Given the description of an element on the screen output the (x, y) to click on. 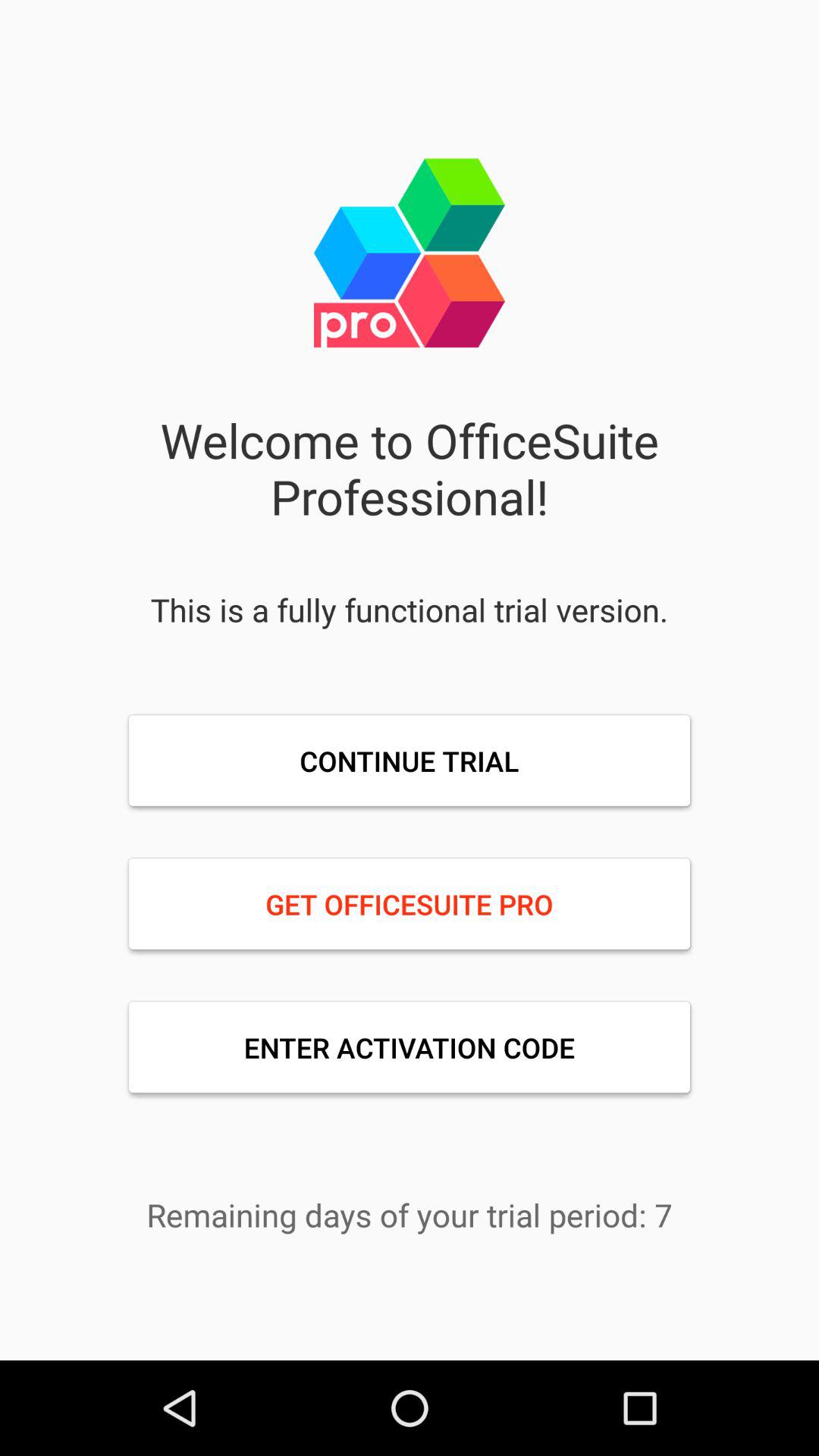
click get officesuite pro item (409, 904)
